Given the description of an element on the screen output the (x, y) to click on. 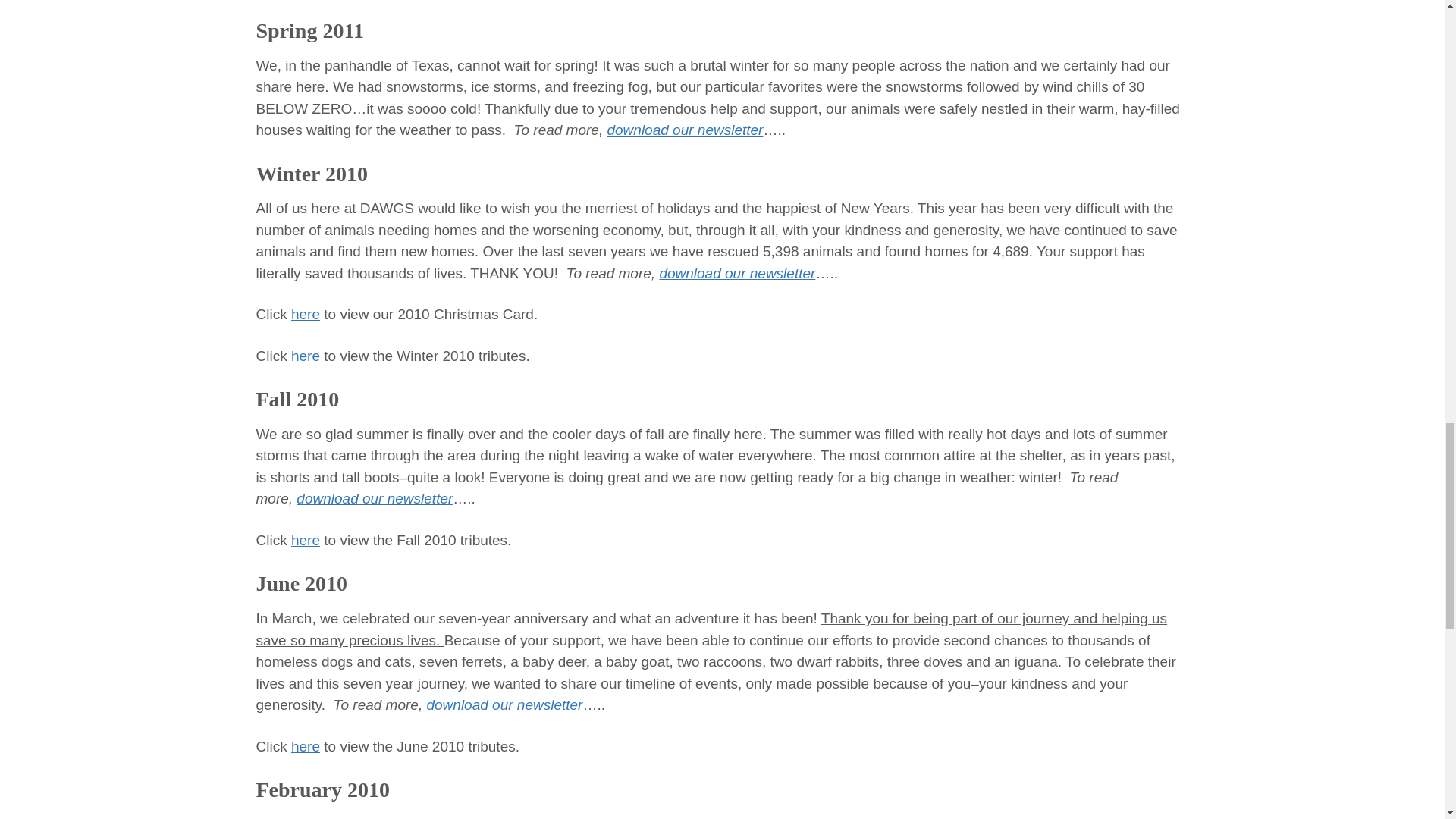
here (305, 355)
download our newsletter (374, 498)
download our newsletter (504, 704)
here (305, 539)
here (305, 314)
download our newsletter (737, 273)
download our newsletter (684, 130)
here (305, 746)
